Given the description of an element on the screen output the (x, y) to click on. 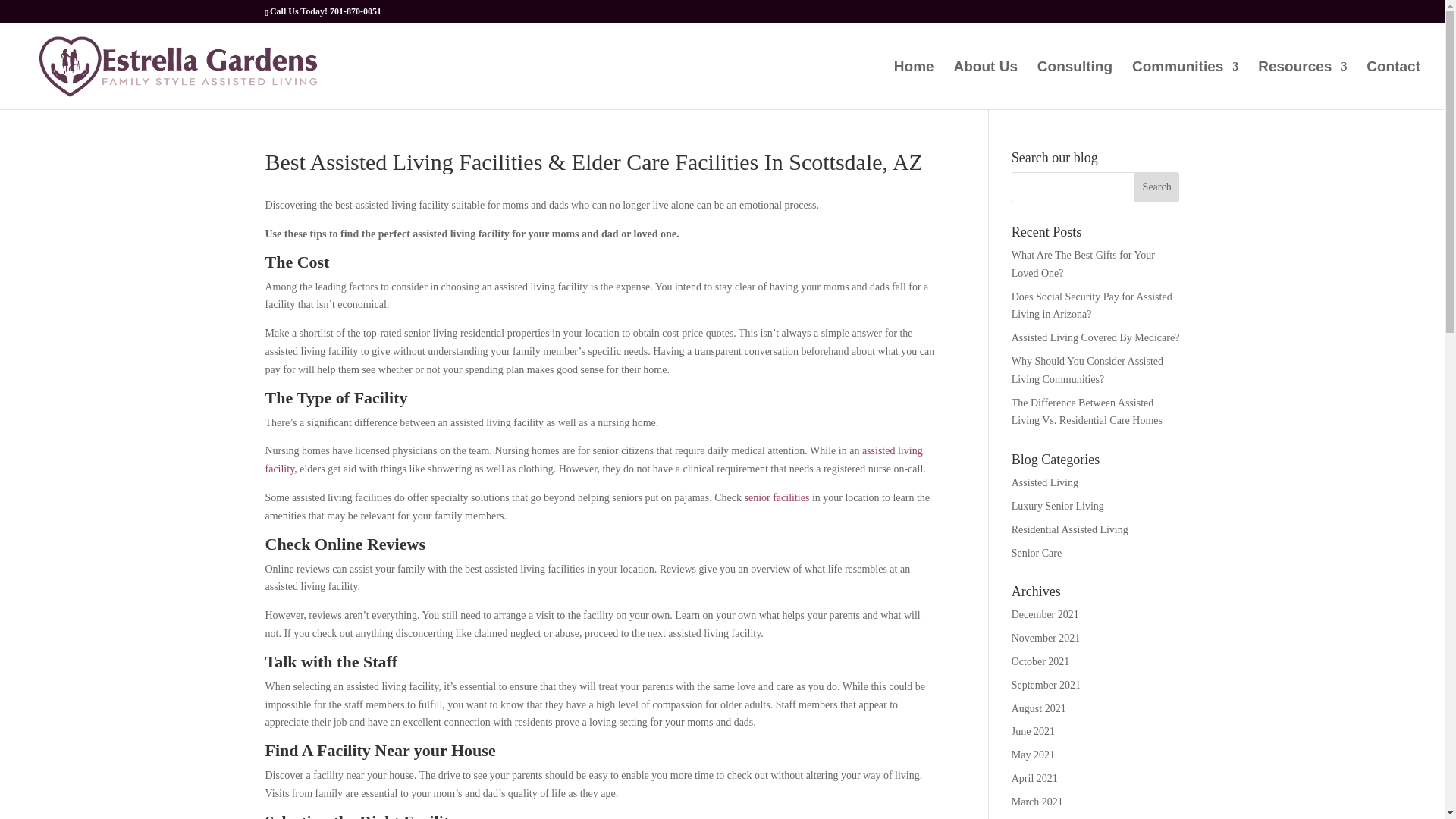
Assisted Living Covered By Medicare? (1095, 337)
Check Online Reviews (344, 543)
Communities (1185, 84)
senior facilities (776, 497)
About Us (985, 84)
Senior Care (1036, 552)
Assisted Living (1044, 482)
Consulting (1074, 84)
assisted living facility, (593, 460)
Residential Assisted Living (1069, 529)
Search (1156, 186)
What Are The Best Gifts for Your Loved One? (1082, 264)
Search (1156, 186)
December 2021 (1044, 614)
